Given the description of an element on the screen output the (x, y) to click on. 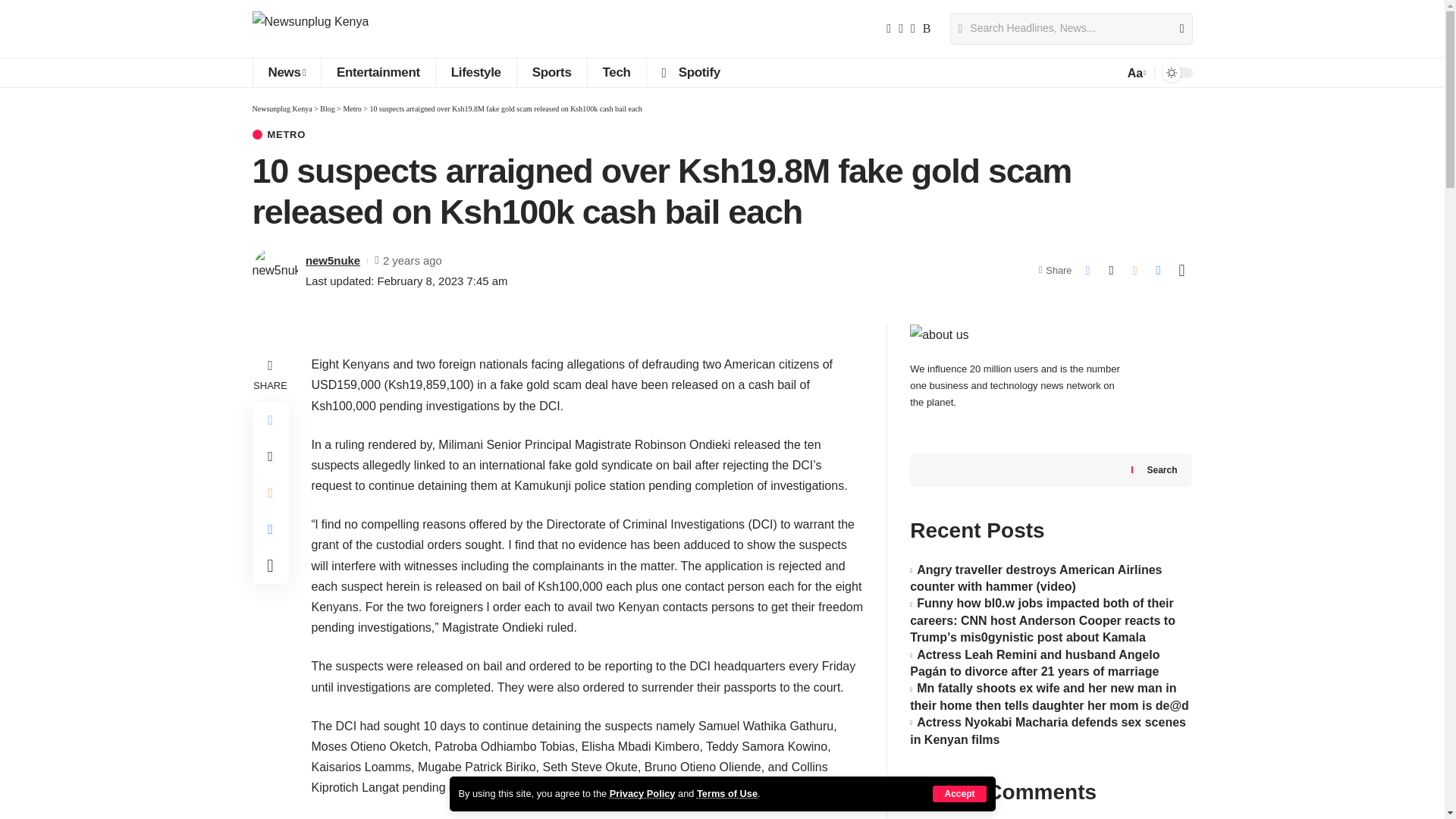
Go to the Metro Category archives. (351, 108)
Newsunplug Kenya (309, 28)
Aa (1135, 73)
Entertainment (377, 72)
Spotify (690, 72)
Lifestyle (475, 72)
Accept (959, 793)
Go to Blog. (327, 108)
Sports (551, 72)
Privacy Policy (642, 793)
